Given the description of an element on the screen output the (x, y) to click on. 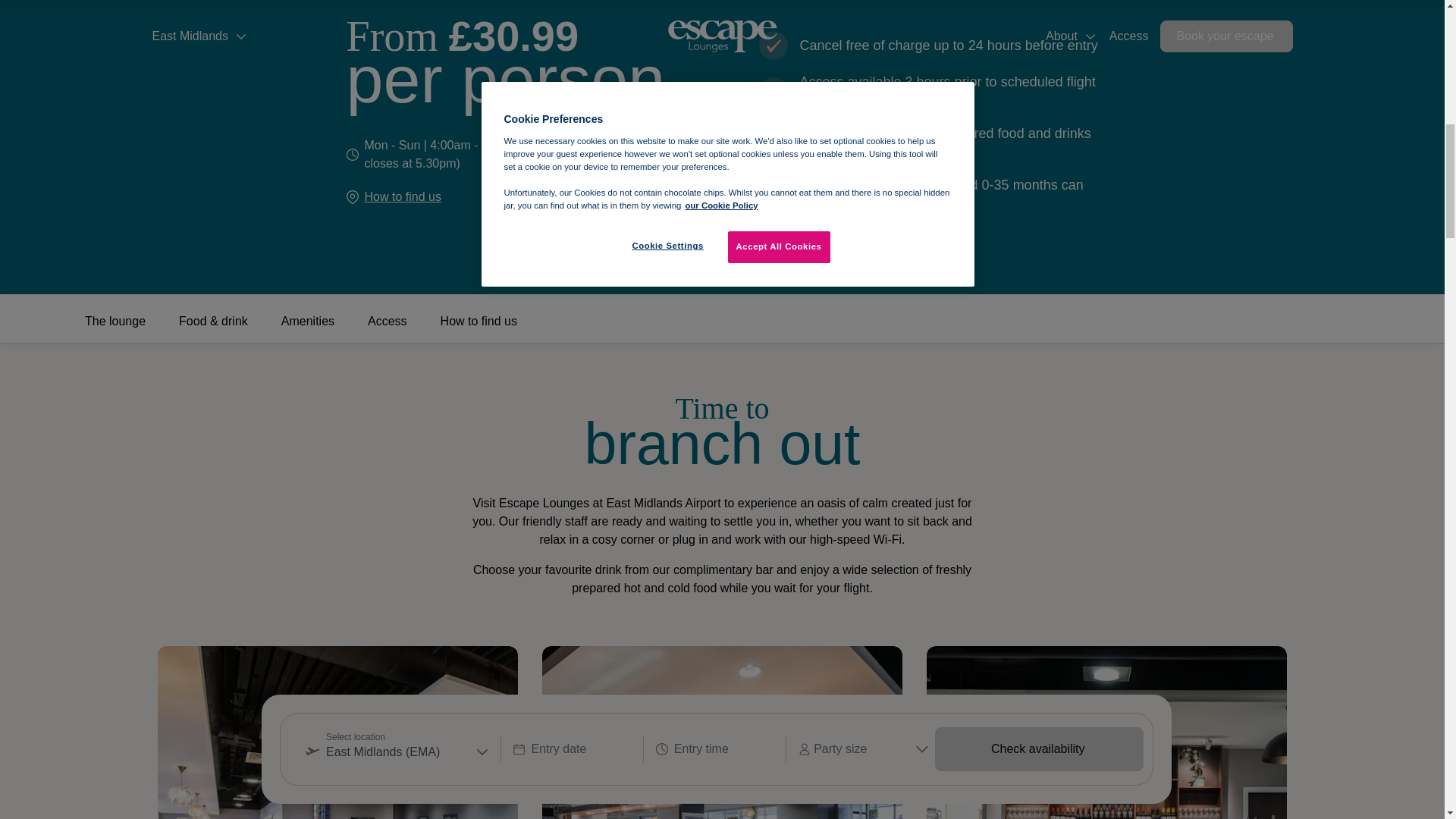
The lounge (114, 327)
How to find us (402, 197)
